Given the description of an element on the screen output the (x, y) to click on. 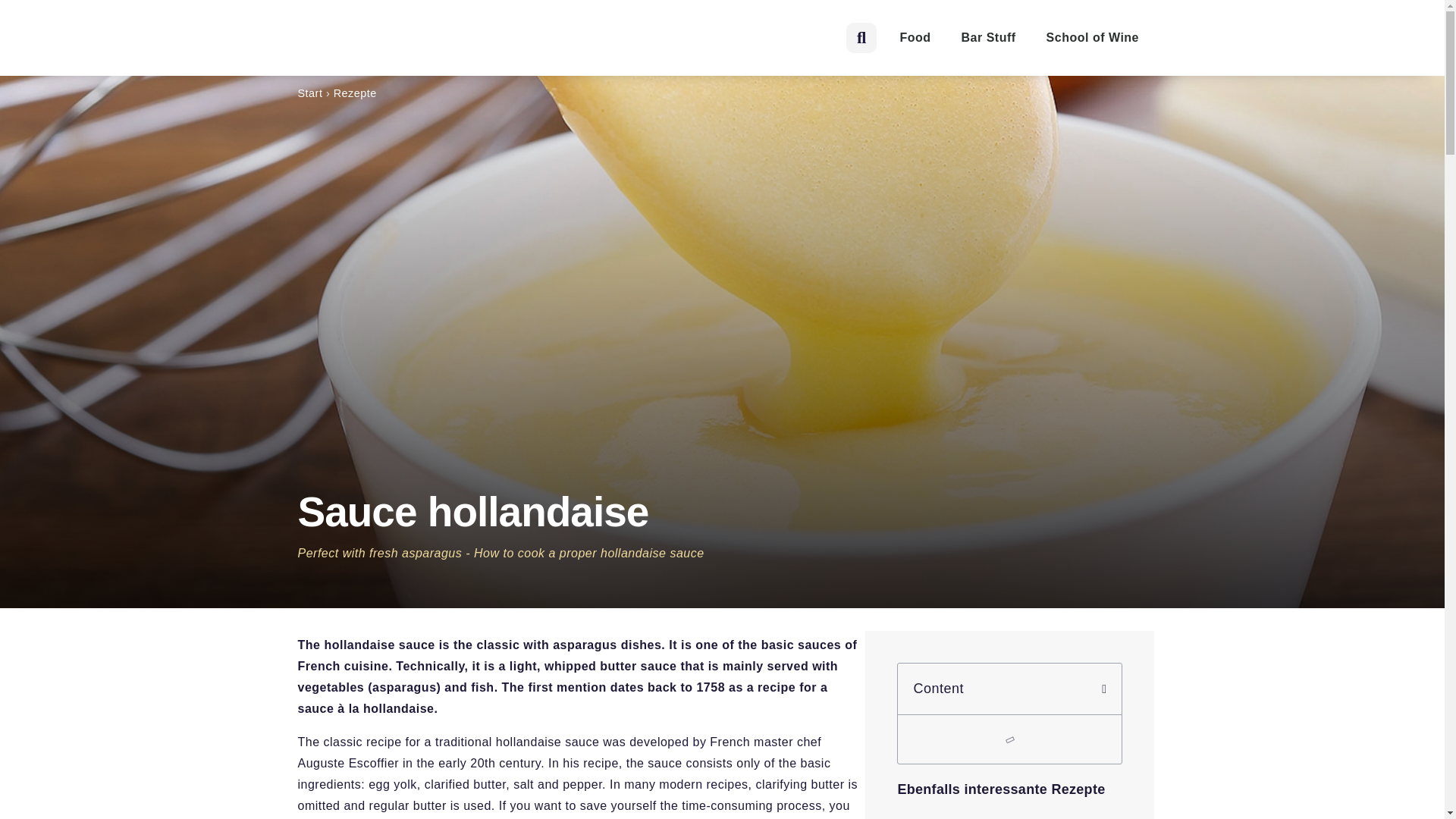
Food (913, 37)
Bar Stuff (988, 37)
Simple tomato soup 3 (1009, 813)
School of Wine (1092, 37)
